Given the description of an element on the screen output the (x, y) to click on. 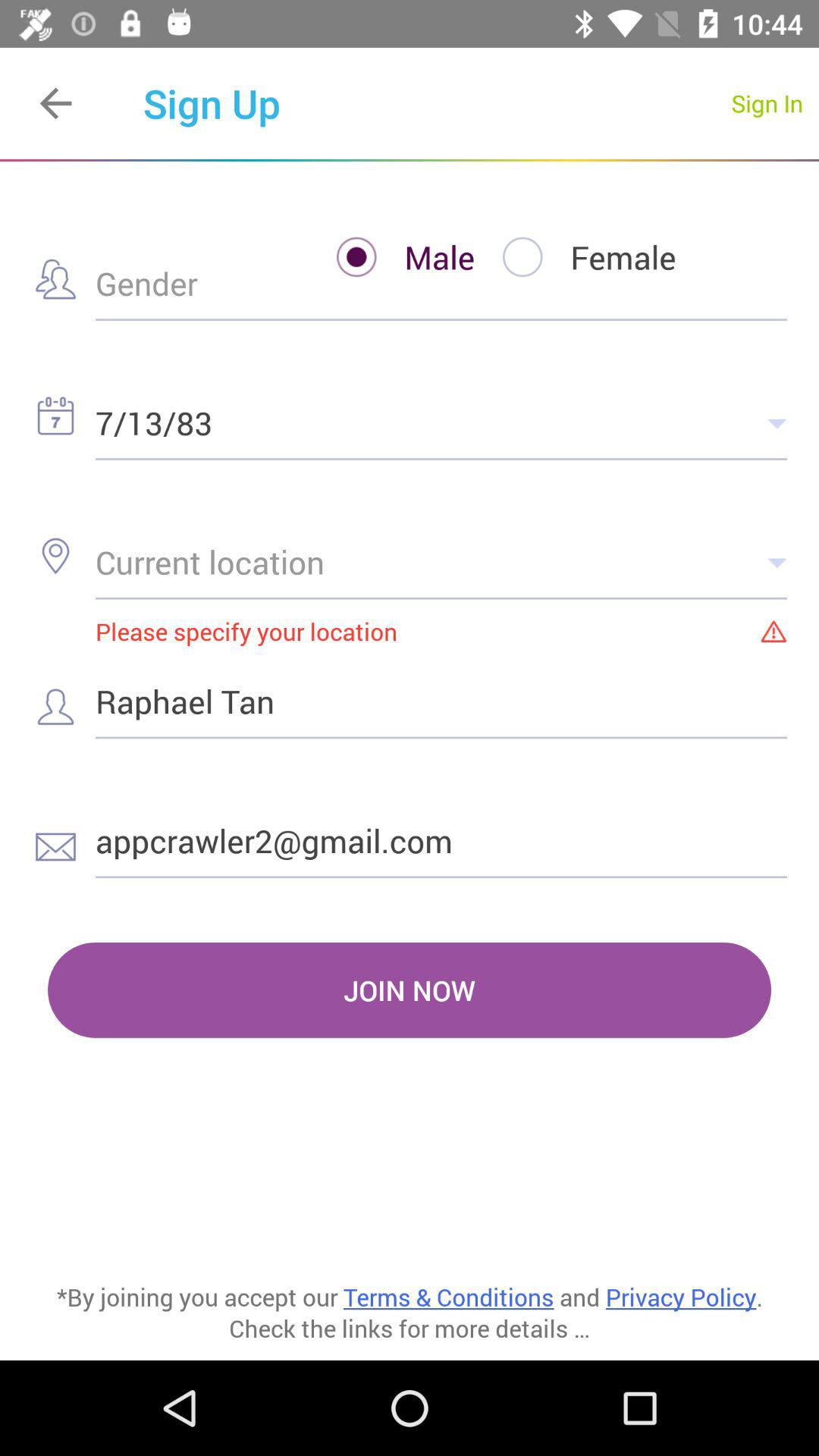
jump until the female icon (575, 256)
